Given the description of an element on the screen output the (x, y) to click on. 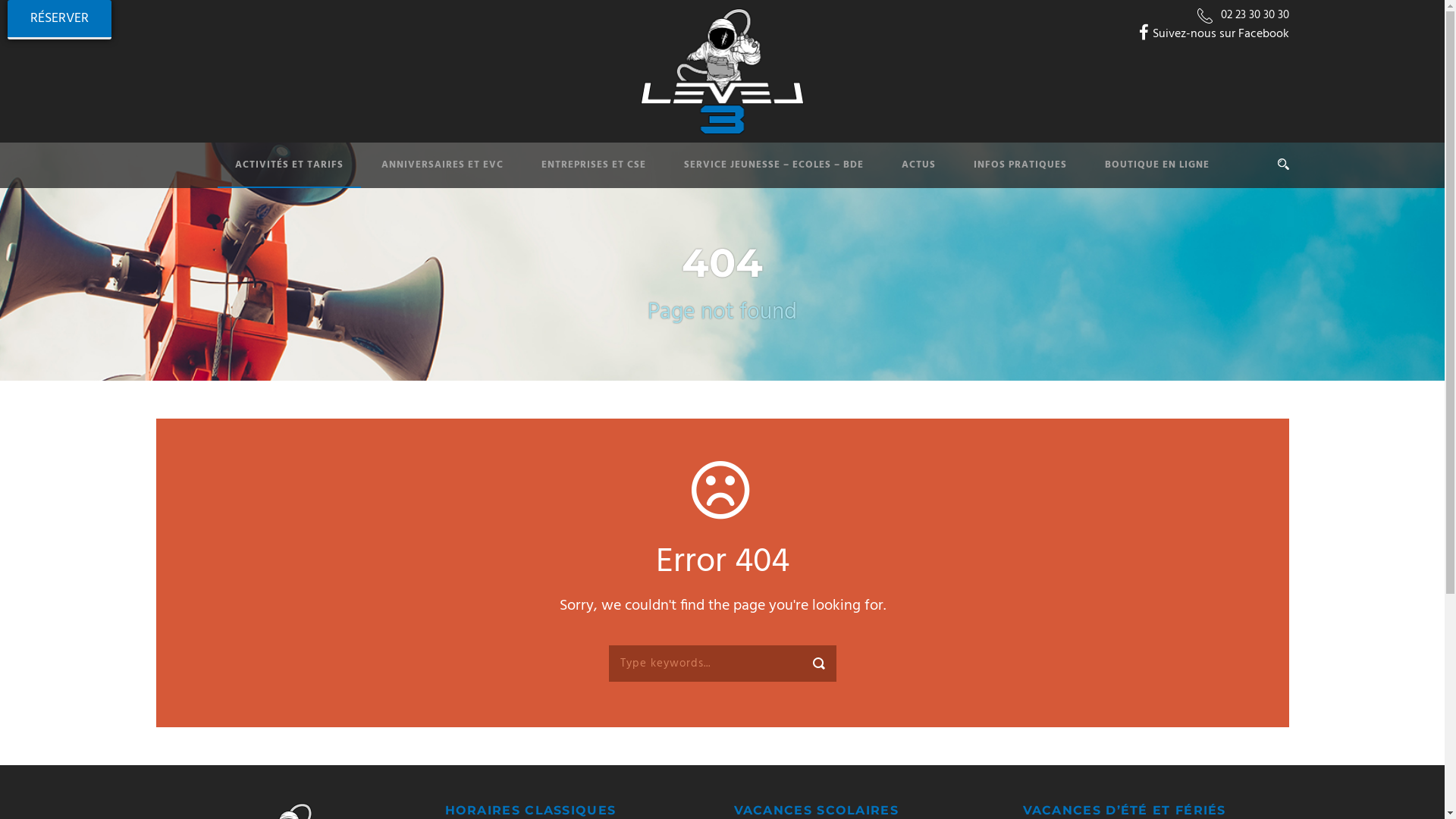
BOUTIQUE EN LIGNE Element type: text (1137, 172)
ACTUS Element type: text (899, 172)
ENTREPRISES ET CSE Element type: text (574, 172)
02 23 30 30 30 Element type: text (1254, 15)
Suivez-nous sur Facebook Element type: text (1214, 33)
INFOS PRATIQUES Element type: text (1000, 172)
ANNIVERSAIRES ET EVC Element type: text (423, 172)
